Given the description of an element on the screen output the (x, y) to click on. 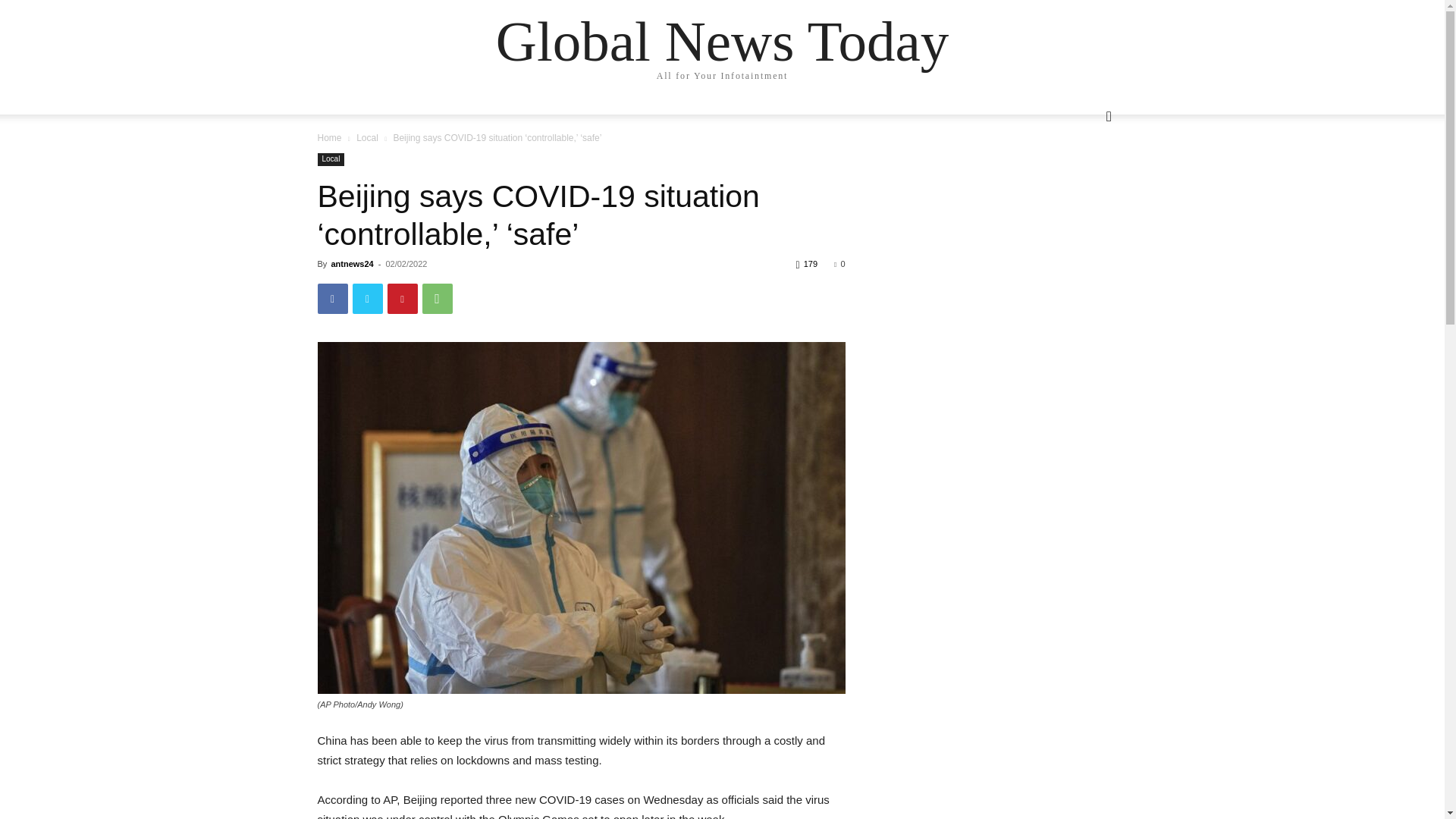
Home (328, 137)
Global News Today (722, 41)
antnews24 (351, 263)
WhatsApp (436, 298)
Search (1085, 177)
Local (367, 137)
0 (839, 263)
View all posts in Local (367, 137)
Twitter (366, 298)
Pinterest (401, 298)
Facebook (332, 298)
Local (330, 159)
